Given the description of an element on the screen output the (x, y) to click on. 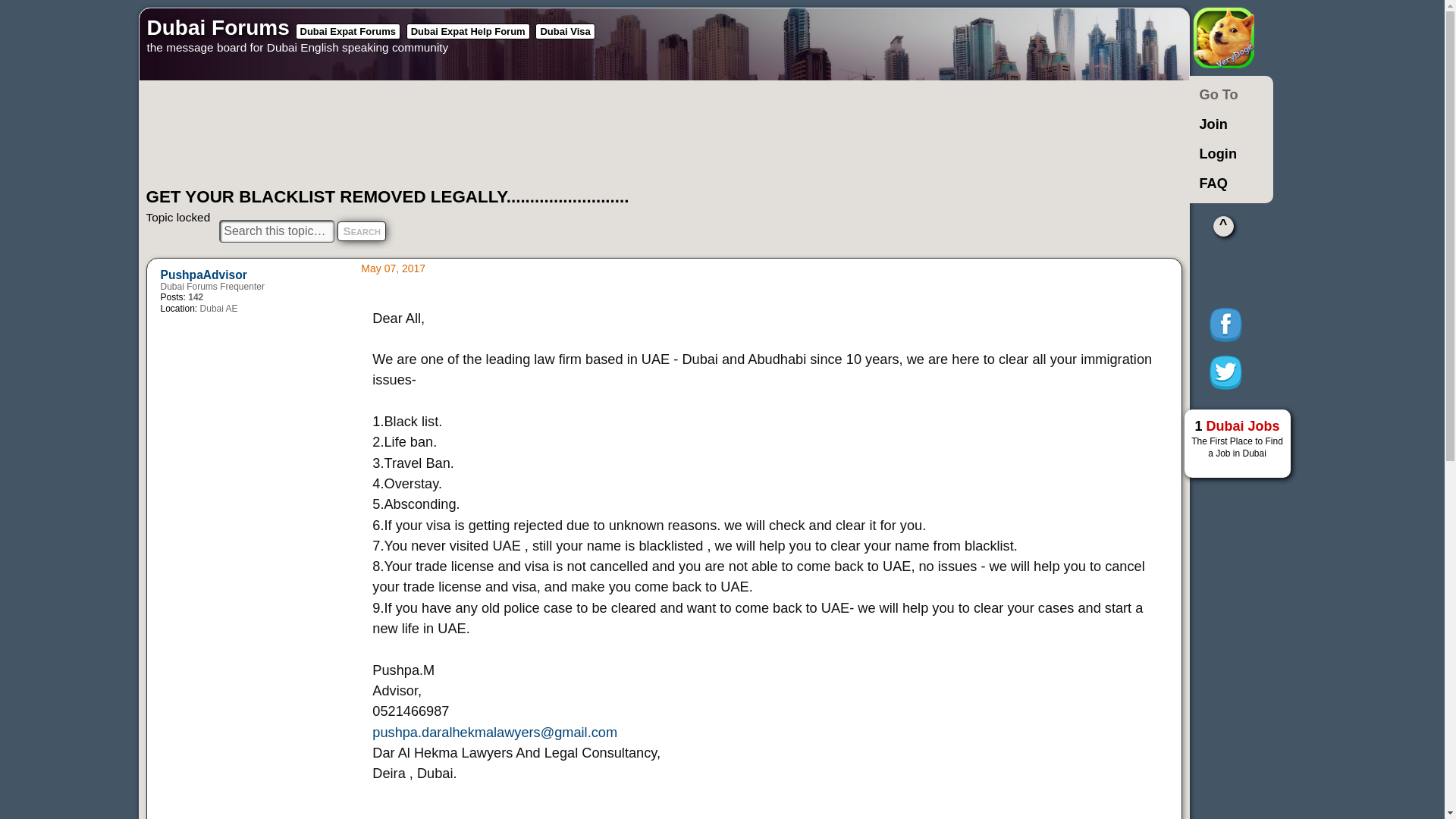
Top (1222, 226)
Dubai Visa (564, 31)
Login (1227, 153)
Frequently Asked Questions (1227, 183)
Search (361, 230)
Dubai Expat Help Forum (467, 31)
PushpaAdvisor (203, 274)
Dubai Expat Forums (347, 31)
Dubai Forums (218, 27)
Search (361, 230)
